Given the description of an element on the screen output the (x, y) to click on. 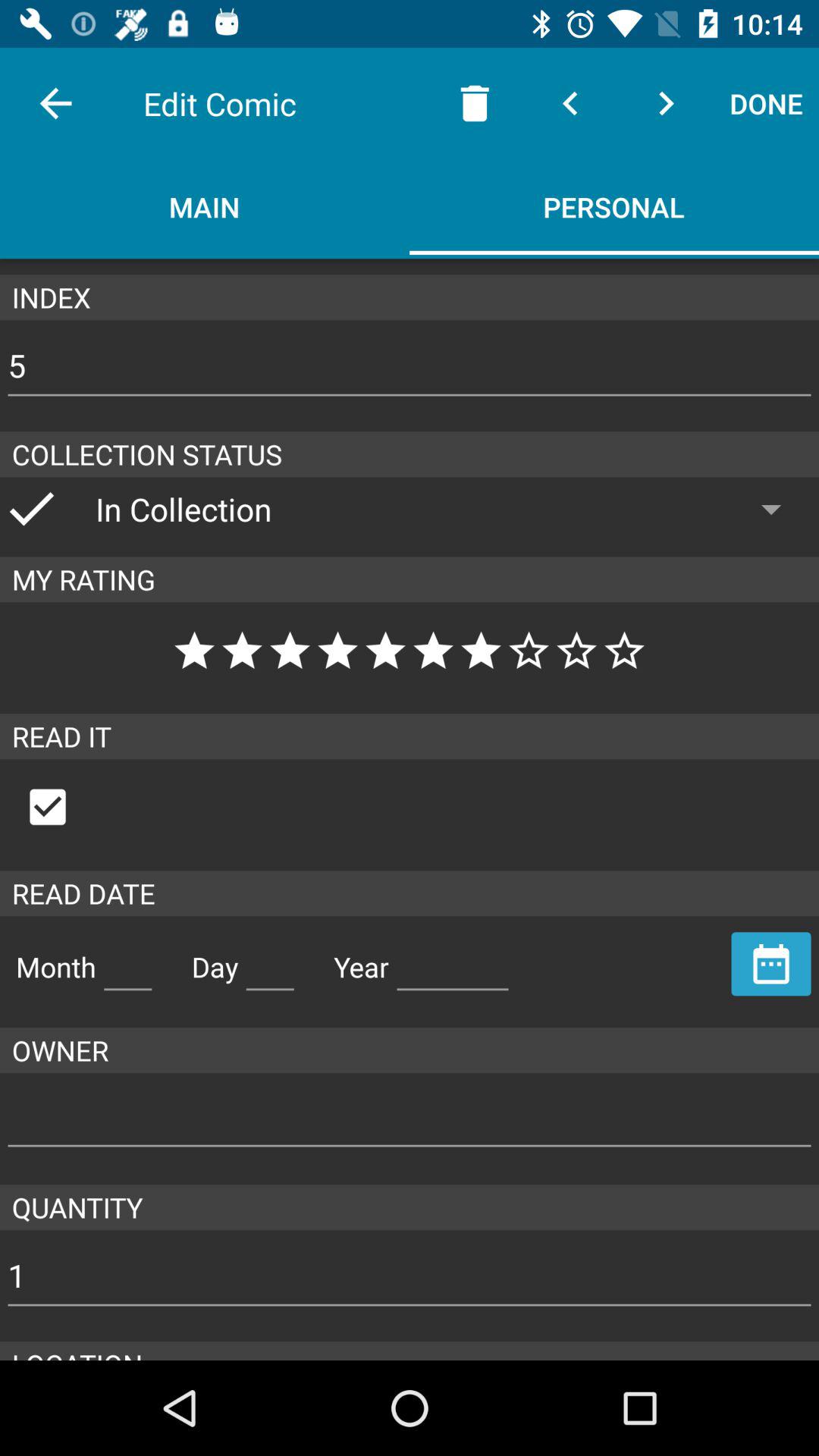
select read it (63, 806)
